Given the description of an element on the screen output the (x, y) to click on. 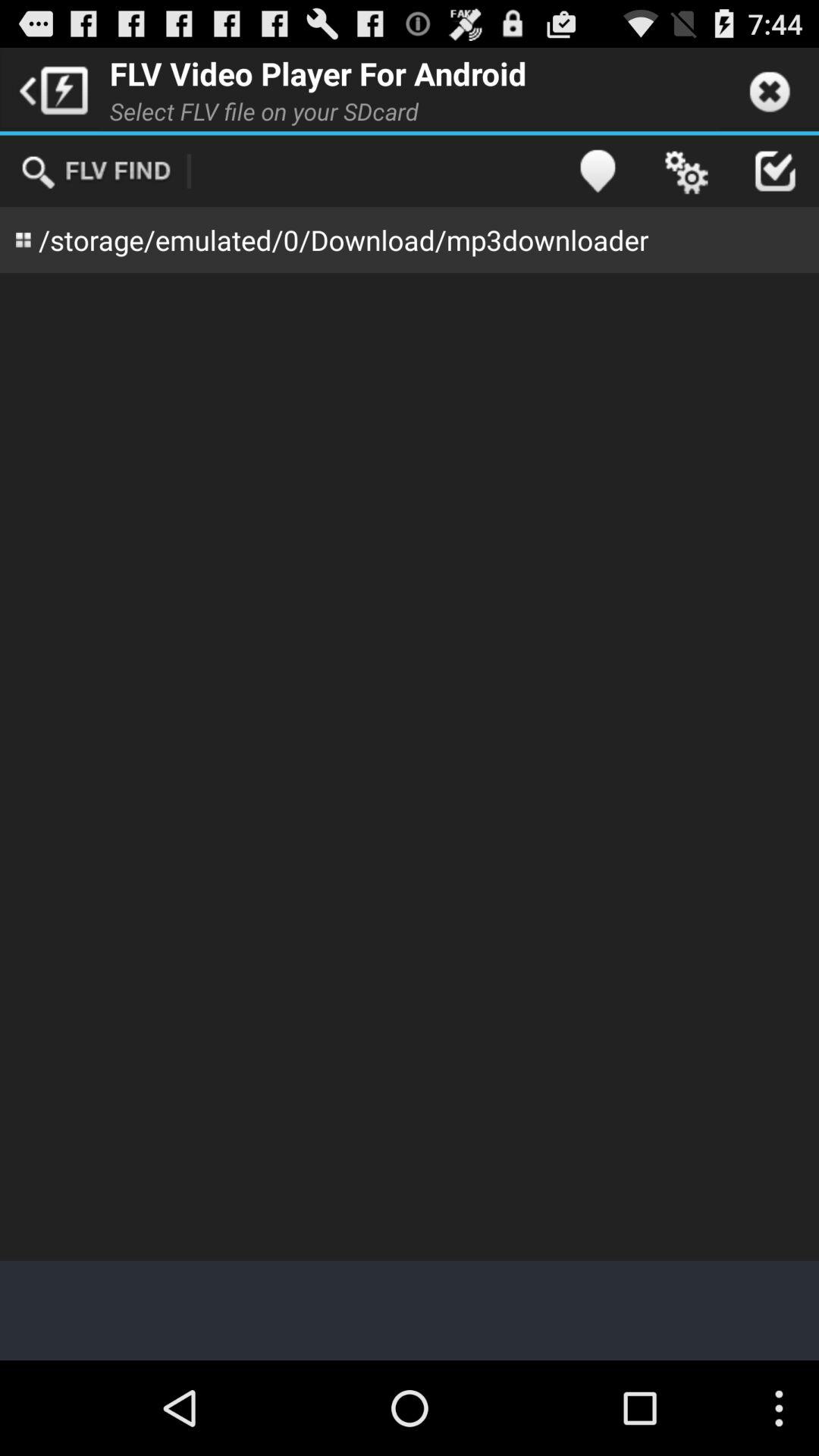
open the item next to the flv video player (49, 89)
